Given the description of an element on the screen output the (x, y) to click on. 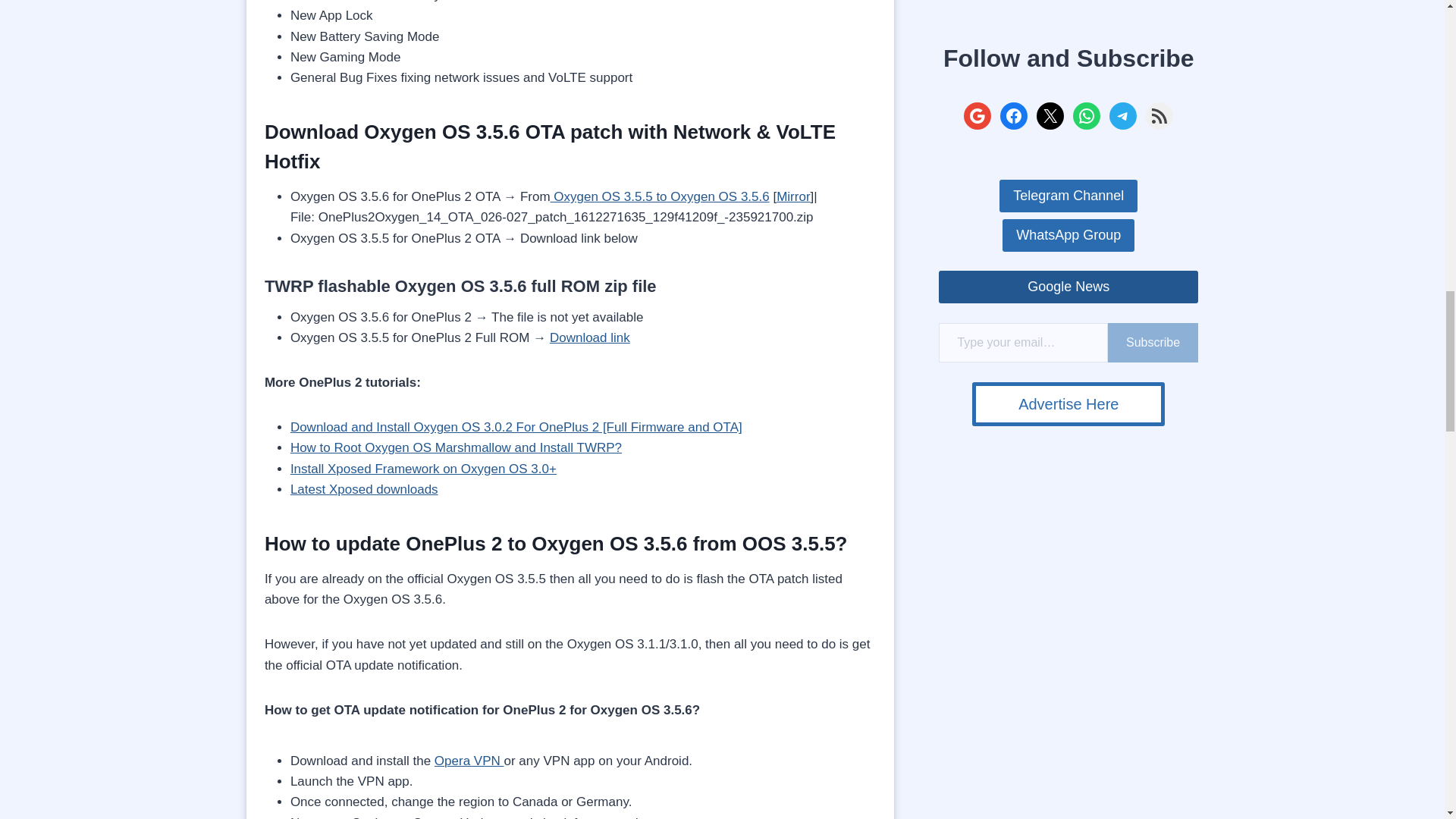
How to Root Oxygen OS Marshmallow and Install TWRP? (455, 447)
Latest Xposed downloads (363, 489)
Download link (590, 337)
Opera VPN (468, 760)
 Oxygen OS 3.5.5 to Oxygen OS 3.5.6 (660, 196)
Mirror (792, 196)
